Given the description of an element on the screen output the (x, y) to click on. 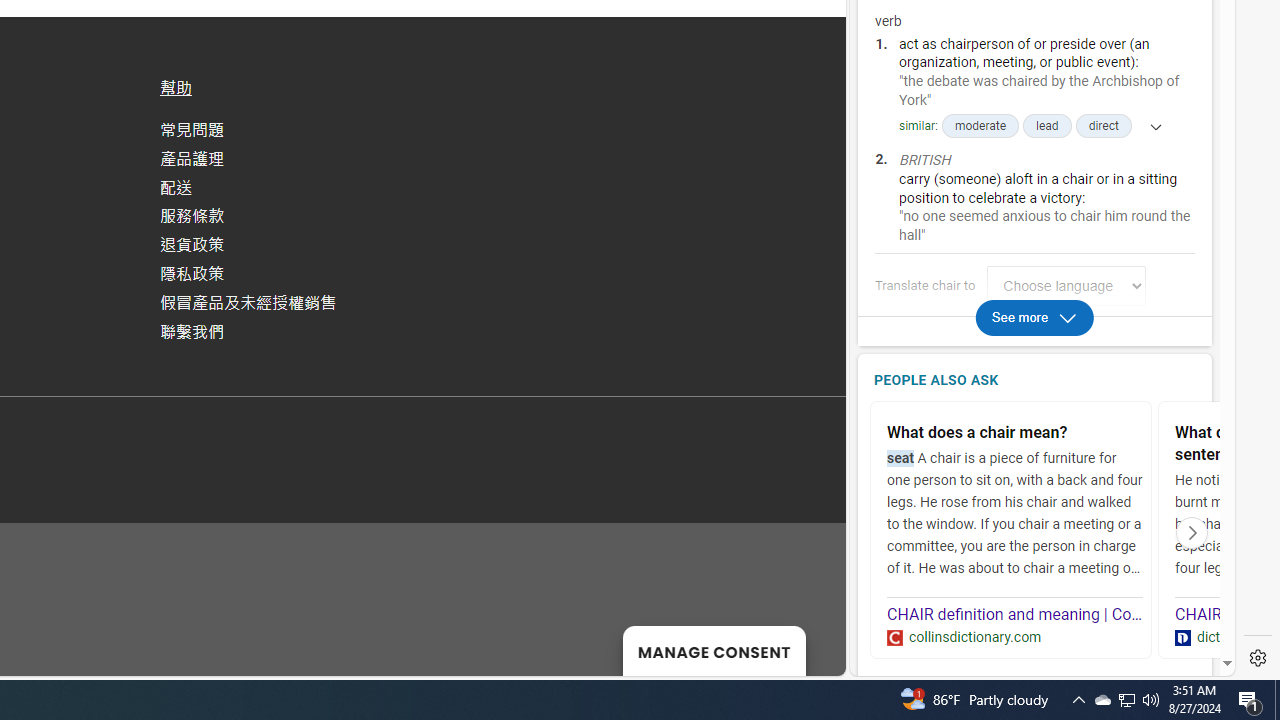
lead (1047, 125)
Translate chair to Choose language (1066, 285)
MANAGE CONSENT (714, 650)
